Given the description of an element on the screen output the (x, y) to click on. 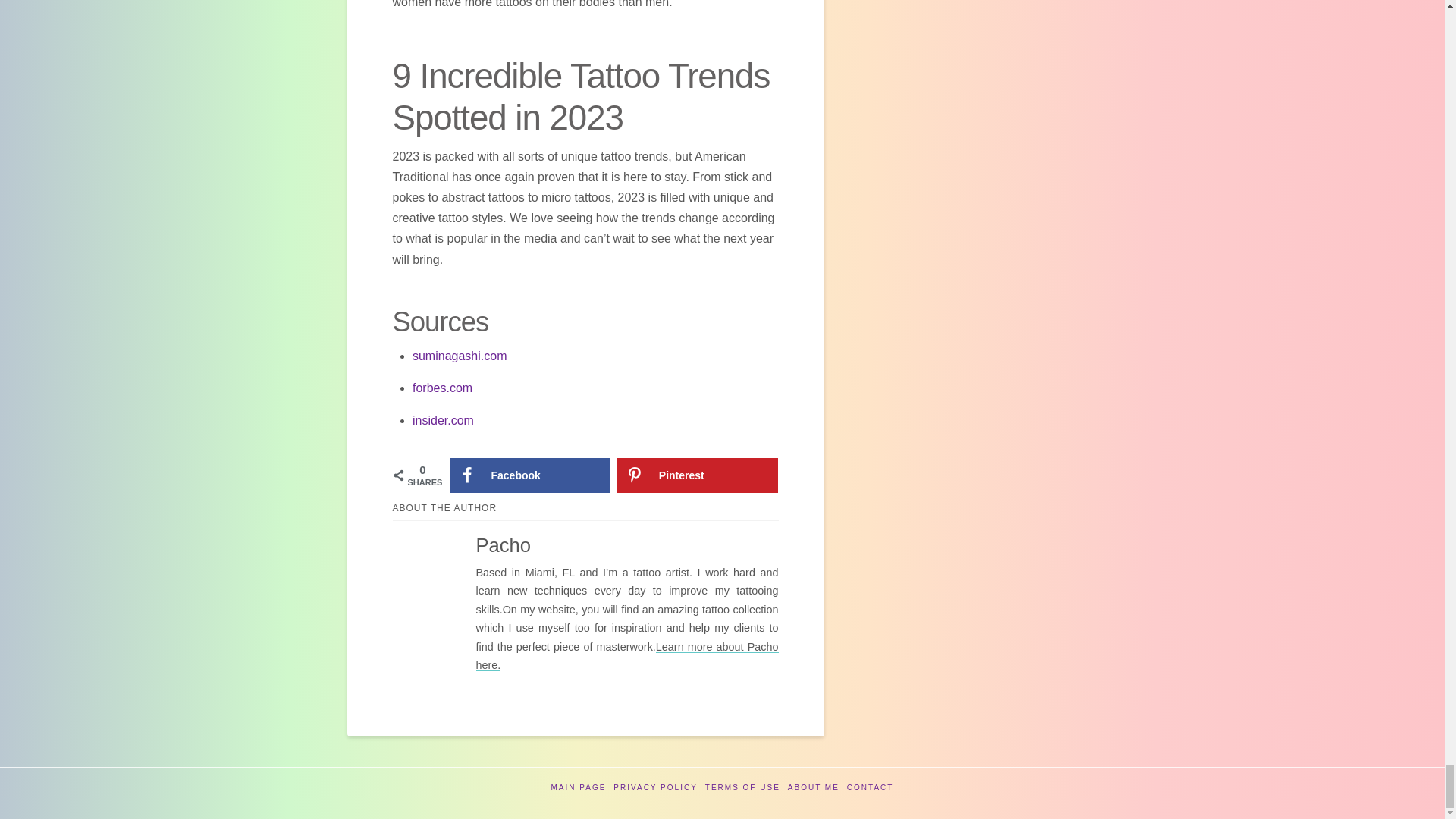
Share on Facebook (529, 475)
Save to Pinterest (697, 475)
